Given the description of an element on the screen output the (x, y) to click on. 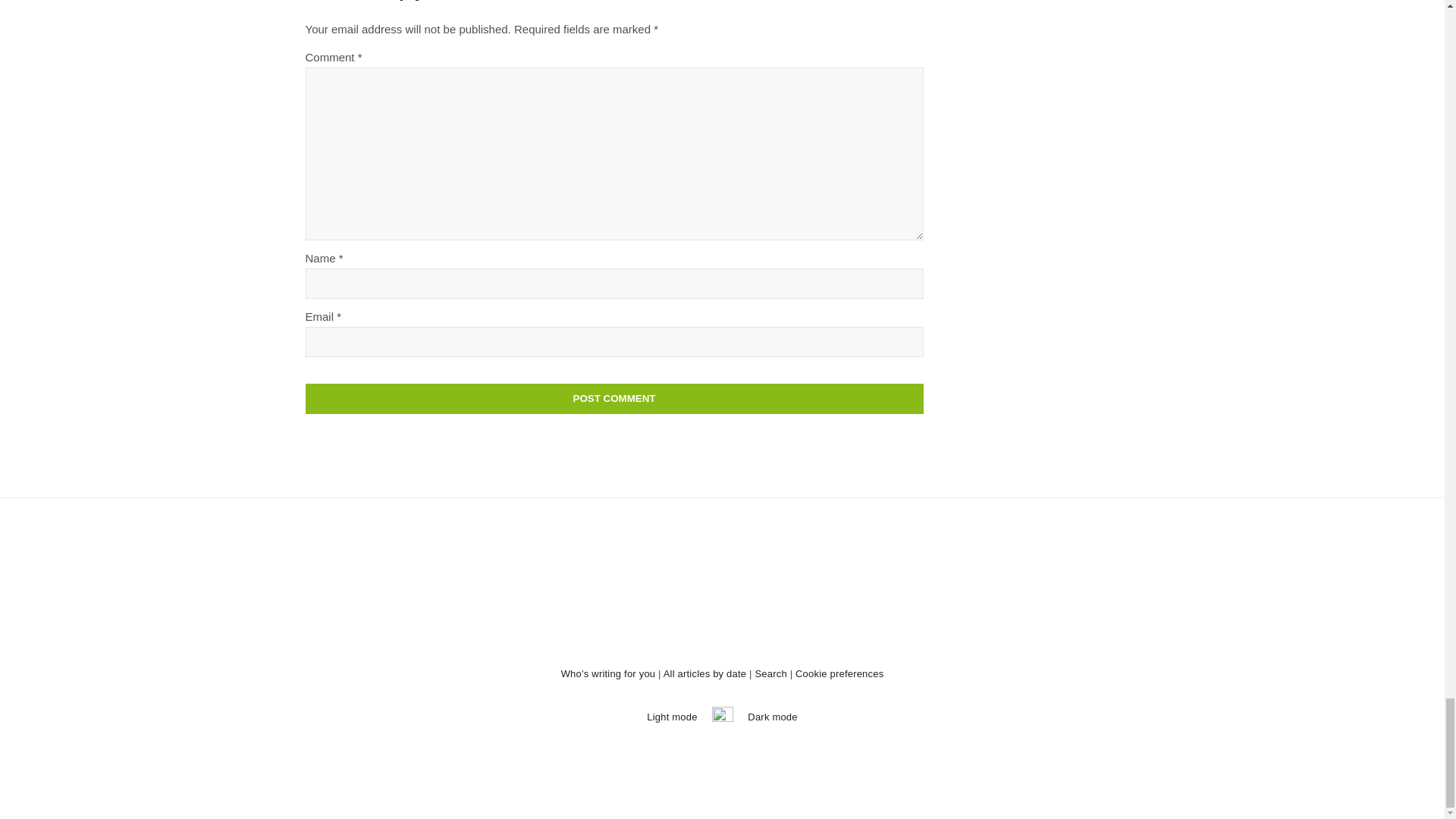
Post Comment (613, 399)
